Given the description of an element on the screen output the (x, y) to click on. 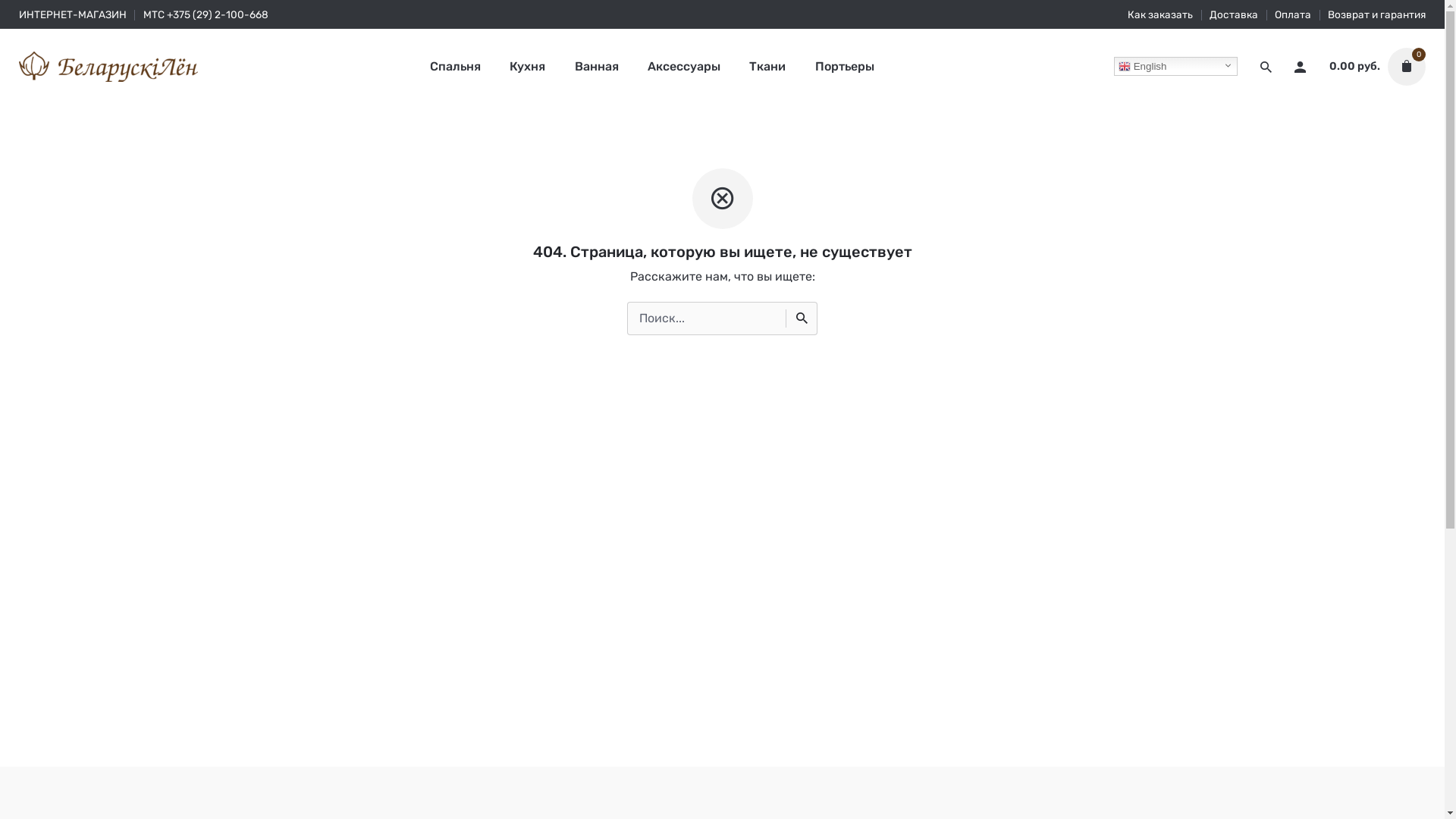
English Element type: text (1175, 65)
0 Element type: text (1402, 66)
+375 (29) 2-100-668 Element type: text (217, 14)
